Given the description of an element on the screen output the (x, y) to click on. 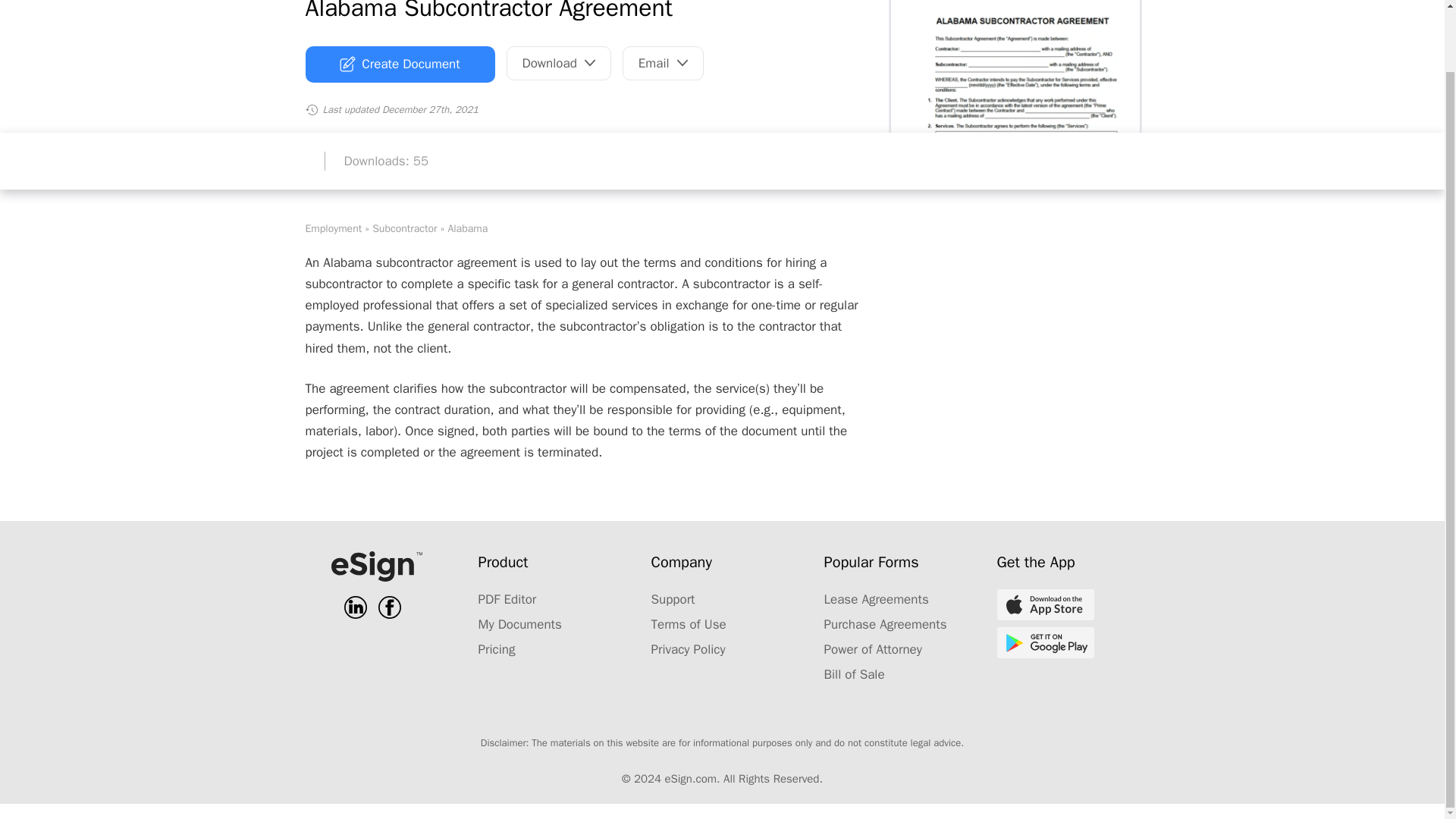
PDF Editor (506, 599)
Employment (332, 228)
Apple Store icon (1044, 603)
Create Document (399, 63)
My Documents (518, 624)
Email (663, 62)
Google Play Store icon (1044, 642)
Subcontractor (404, 228)
Pricing (496, 649)
Download (558, 62)
